Given the description of an element on the screen output the (x, y) to click on. 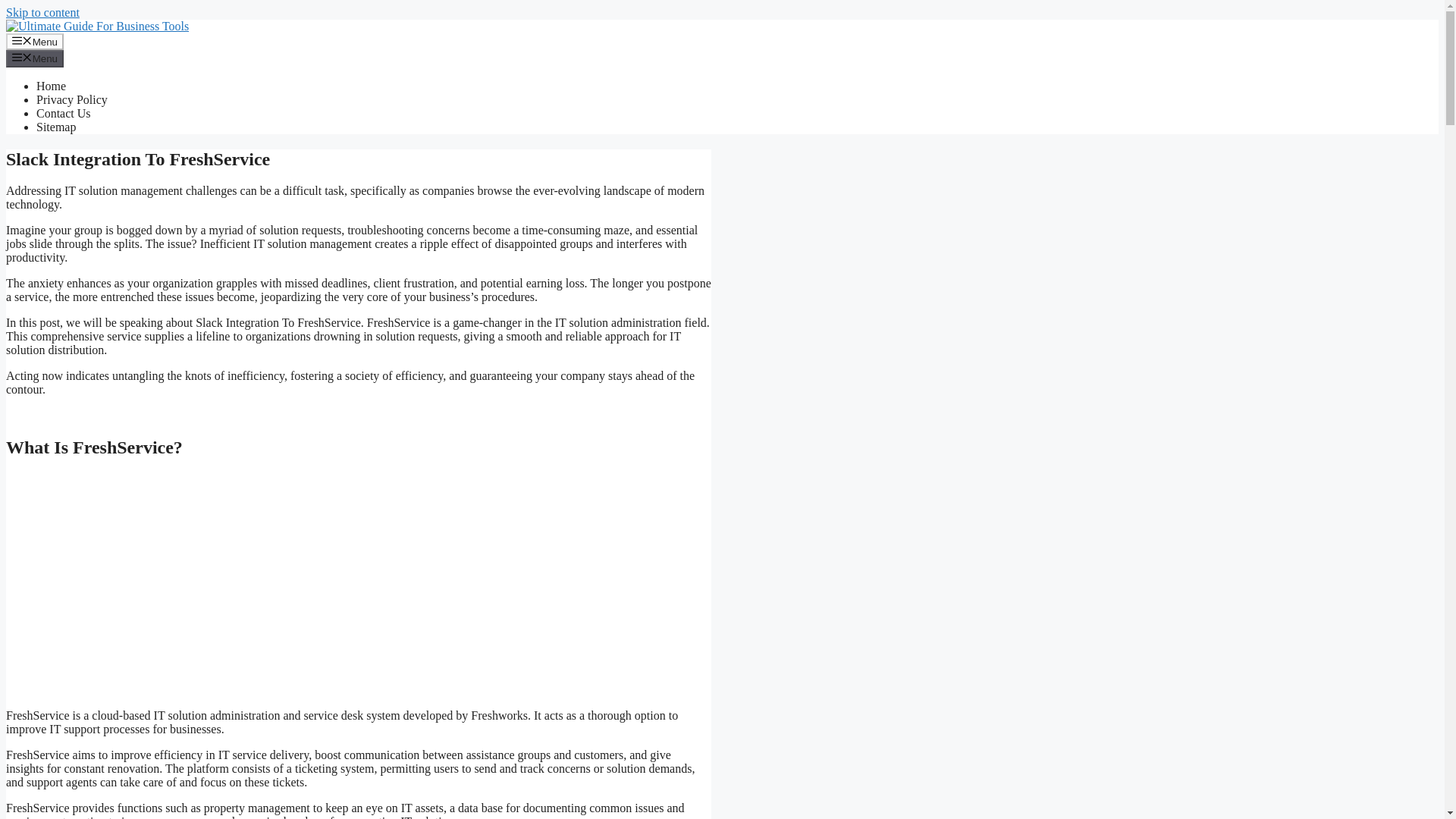
Home (50, 85)
Menu (34, 57)
Menu (34, 41)
Skip to content (42, 11)
Sitemap (55, 126)
Contact Us (63, 113)
Skip to content (42, 11)
Privacy Policy (71, 99)
